Given the description of an element on the screen output the (x, y) to click on. 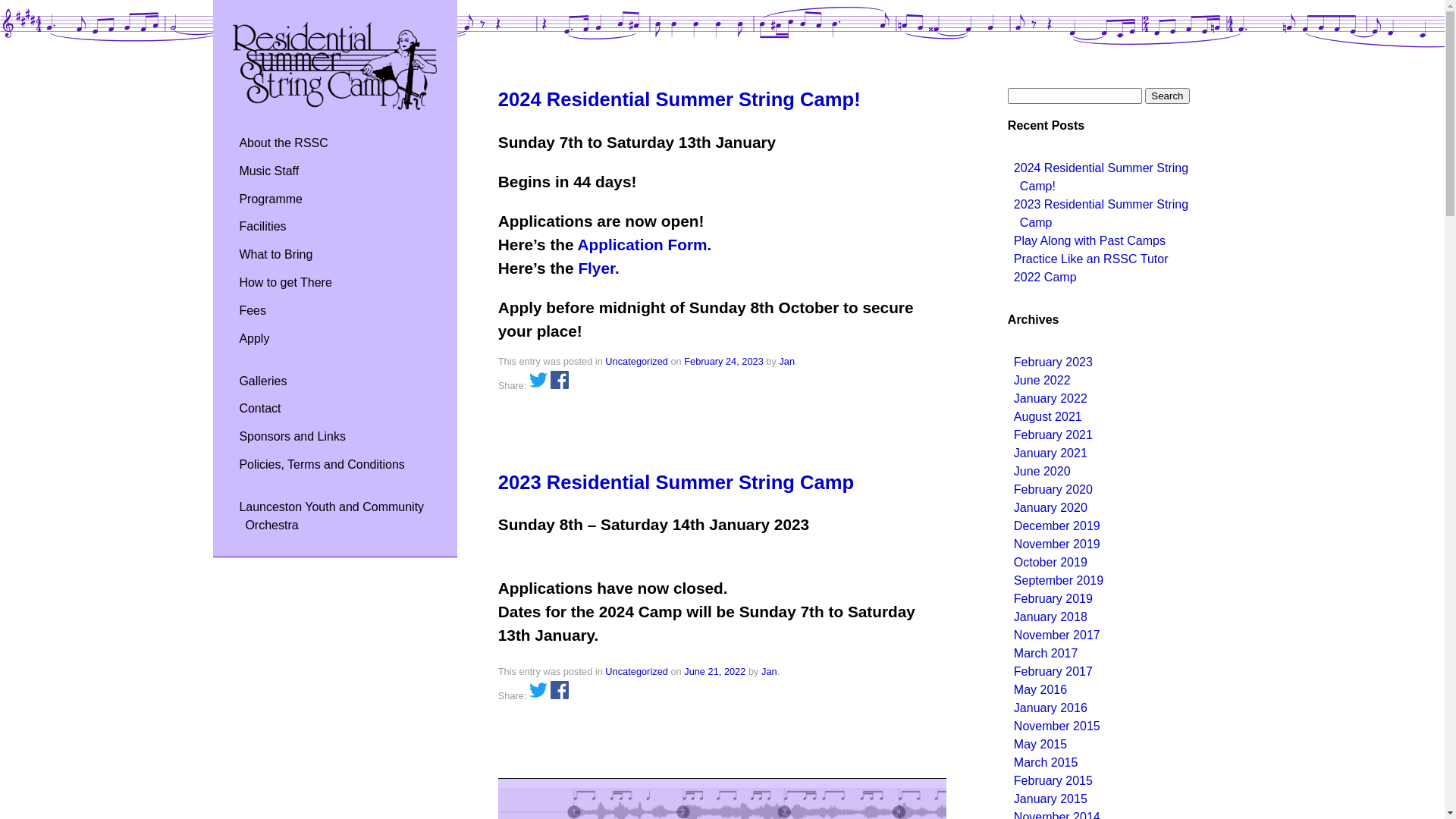
Uncategorized Element type: text (636, 361)
Application Form. Element type: text (644, 244)
2022 Camp Element type: text (1044, 276)
November 2017 Element type: text (1056, 634)
Sponsors and Links Element type: text (291, 435)
2023 Residential Summer String Camp Element type: text (1100, 213)
January 2020 Element type: text (1050, 507)
March 2015 Element type: text (1045, 762)
2024 Residential Summer String Camp! Element type: text (679, 98)
Uncategorized Element type: text (636, 671)
Jan Element type: text (786, 361)
Music Staff Element type: text (268, 170)
September 2019 Element type: text (1058, 580)
Launceston Youth and Community Orchestra Element type: text (330, 515)
October 2019 Element type: text (1050, 561)
Programme Element type: text (270, 198)
February 2015 Element type: text (1052, 780)
January 2018 Element type: text (1050, 616)
Contact Element type: text (259, 407)
November 2019 Element type: text (1056, 543)
January 2015 Element type: text (1050, 798)
May 2015 Element type: text (1039, 743)
Facilities Element type: text (261, 225)
February 24, 2023 Element type: text (723, 361)
December 2019 Element type: text (1056, 525)
February 2023 Element type: text (1052, 361)
Practice Like an RSSC Tutor Element type: text (1090, 258)
How to get There Element type: text (284, 282)
February 2019 Element type: text (1052, 598)
2024 Residential Summer String Camp! Element type: text (1100, 176)
Jan Element type: text (769, 671)
May 2016 Element type: text (1039, 689)
June 2022 Element type: text (1041, 379)
Skip to content Element type: text (272, 30)
Flyer. Element type: text (597, 267)
Apply Element type: text (253, 338)
August 2021 Element type: text (1047, 416)
Galleries Element type: text (262, 380)
January 2016 Element type: text (1050, 707)
February 2017 Element type: text (1052, 671)
February 2020 Element type: text (1052, 489)
Policies, Terms and Conditions Element type: text (321, 464)
March 2017 Element type: text (1045, 652)
June 2020 Element type: text (1041, 470)
November 2015 Element type: text (1056, 725)
Play Along with Past Camps Element type: text (1089, 240)
Fees Element type: text (252, 310)
What to Bring Element type: text (275, 253)
About the RSSC Element type: text (282, 142)
January 2022 Element type: text (1050, 398)
June 21, 2022 Element type: text (714, 671)
Search Element type: text (1167, 95)
2023 Residential Summer String Camp Element type: text (675, 481)
January 2021 Element type: text (1050, 452)
February 2021 Element type: text (1052, 434)
